Given the description of an element on the screen output the (x, y) to click on. 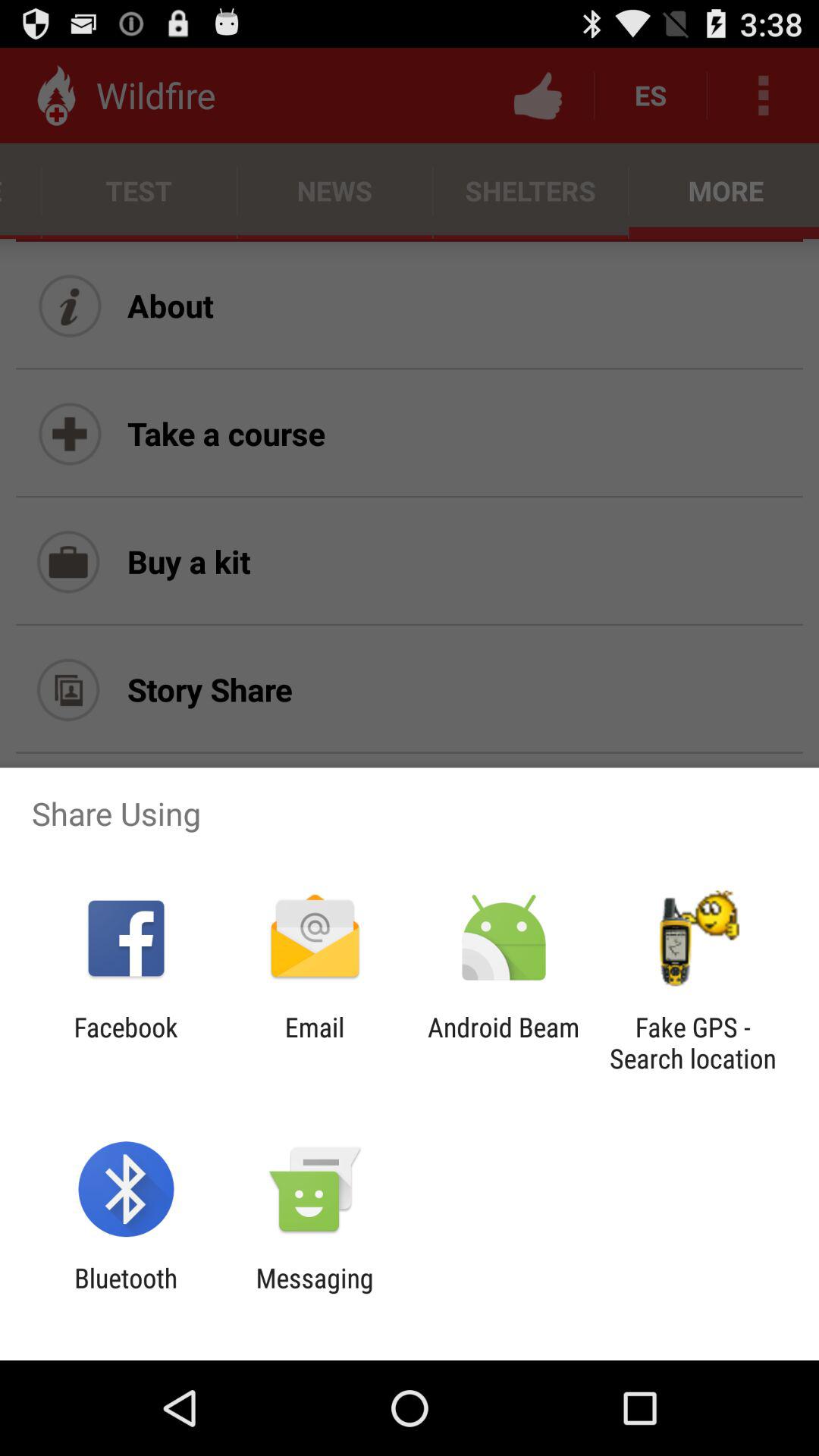
press the item to the right of android beam icon (692, 1042)
